Given the description of an element on the screen output the (x, y) to click on. 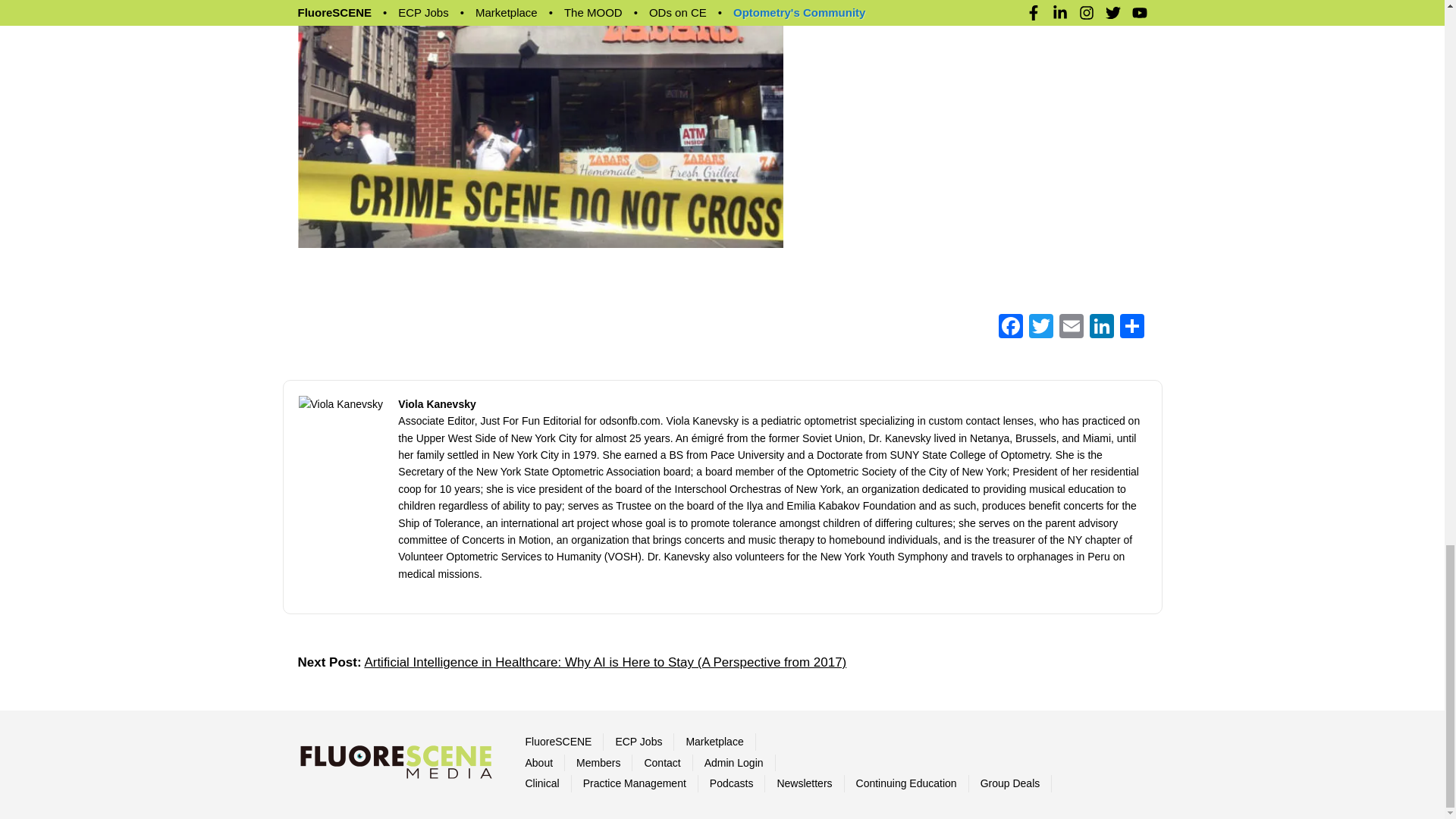
Facebook (1009, 327)
About (538, 762)
Newsletters (803, 783)
LinkedIn (1101, 327)
Podcasts (732, 783)
Twitter (1040, 327)
Marketplace (713, 741)
Email (1070, 327)
Email (1070, 327)
Twitter (1040, 327)
